Given the description of an element on the screen output the (x, y) to click on. 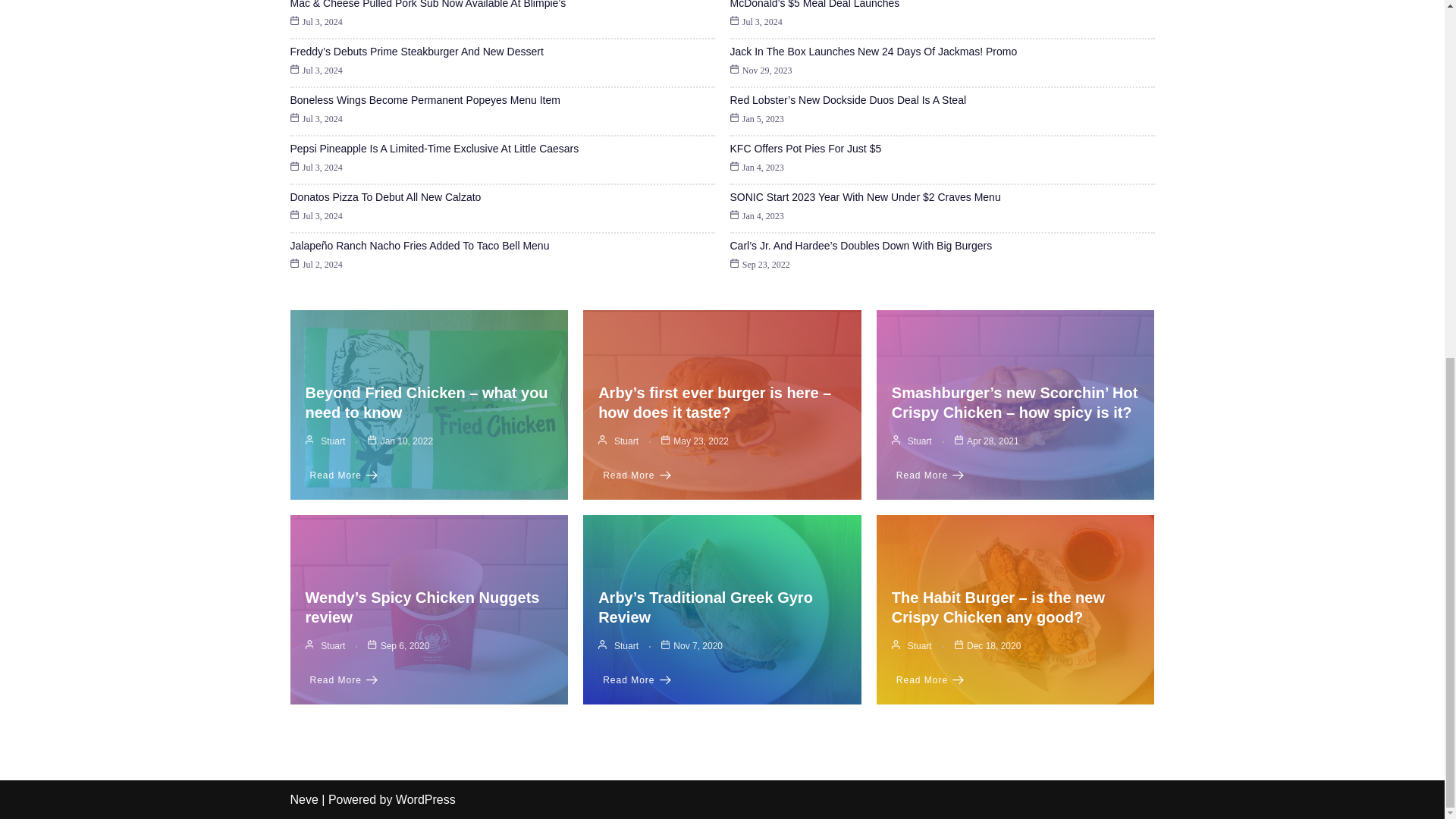
Boneless Wings Become Permanent Popeyes Menu Item (424, 100)
Donatos Pizza To Debut All New Calzato (384, 196)
Jack In The Box Launches New 24 Days Of Jackmas! Promo (872, 51)
